Given the description of an element on the screen output the (x, y) to click on. 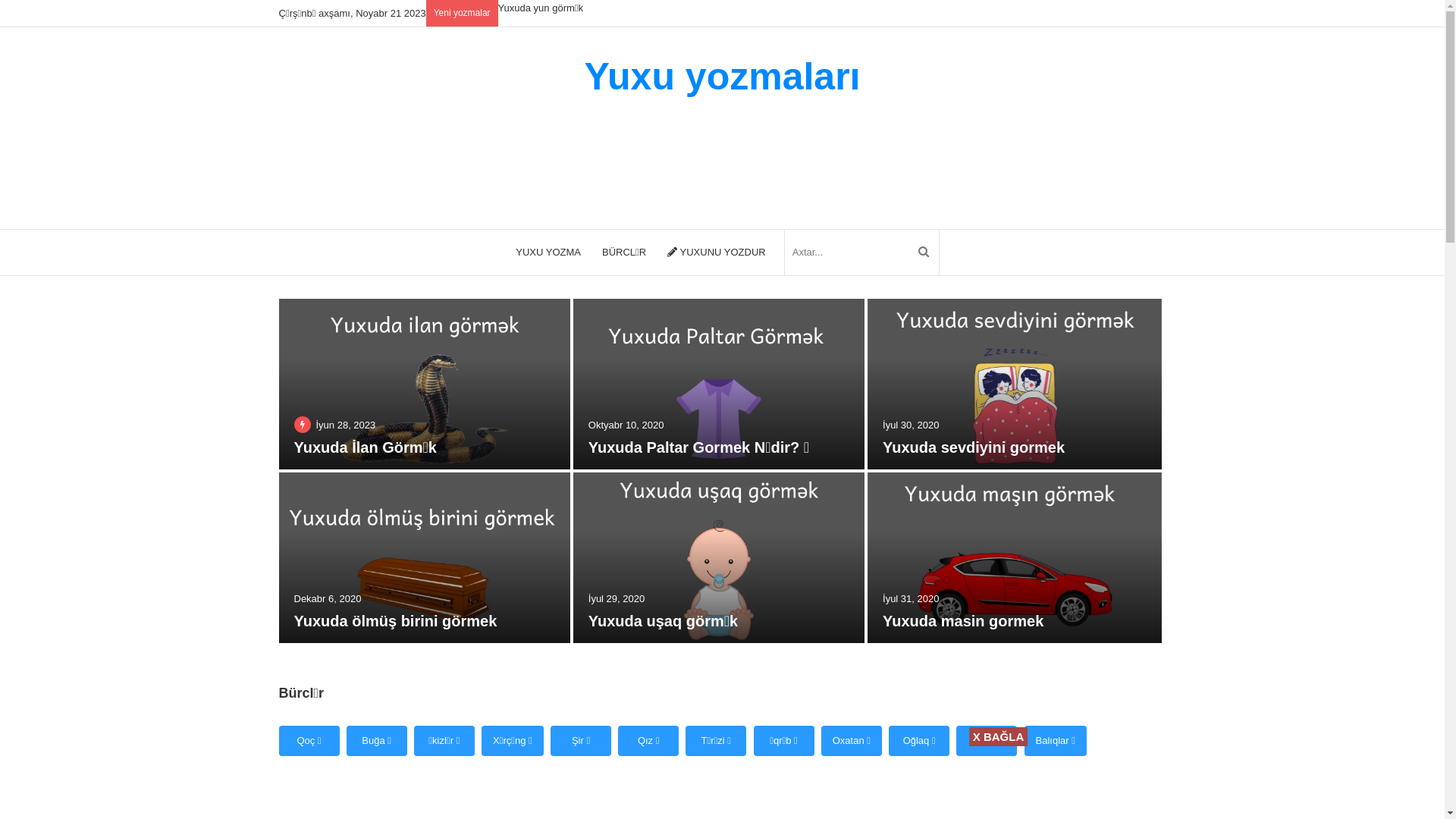
Axtar... Element type: hover (861, 252)
YUXUNU YOZDUR Element type: text (716, 252)
YUXU YOZMA Element type: text (548, 252)
Yuxuda masin gormek Element type: text (962, 620)
Axtar... Element type: text (923, 252)
Advertisement Element type: hover (570, 175)
Advertisement Element type: hover (751, 780)
Yuxuda sevdiyini gormek Element type: text (973, 447)
